Given the description of an element on the screen output the (x, y) to click on. 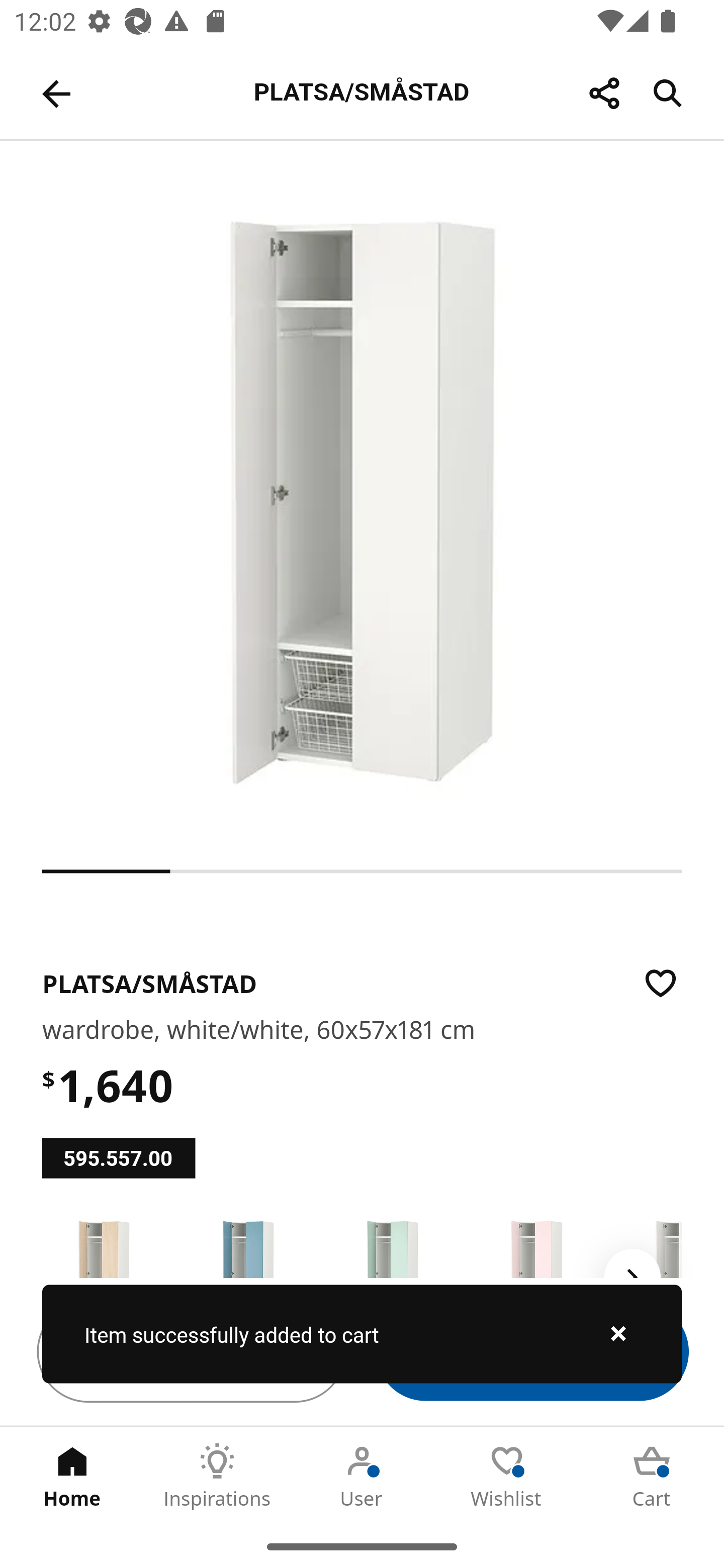
Item successfully added to cart (361, 1333)
Home
Tab 1 of 5 (72, 1476)
Inspirations
Tab 2 of 5 (216, 1476)
User
Tab 3 of 5 (361, 1476)
Wishlist
Tab 4 of 5 (506, 1476)
Cart
Tab 5 of 5 (651, 1476)
